Given the description of an element on the screen output the (x, y) to click on. 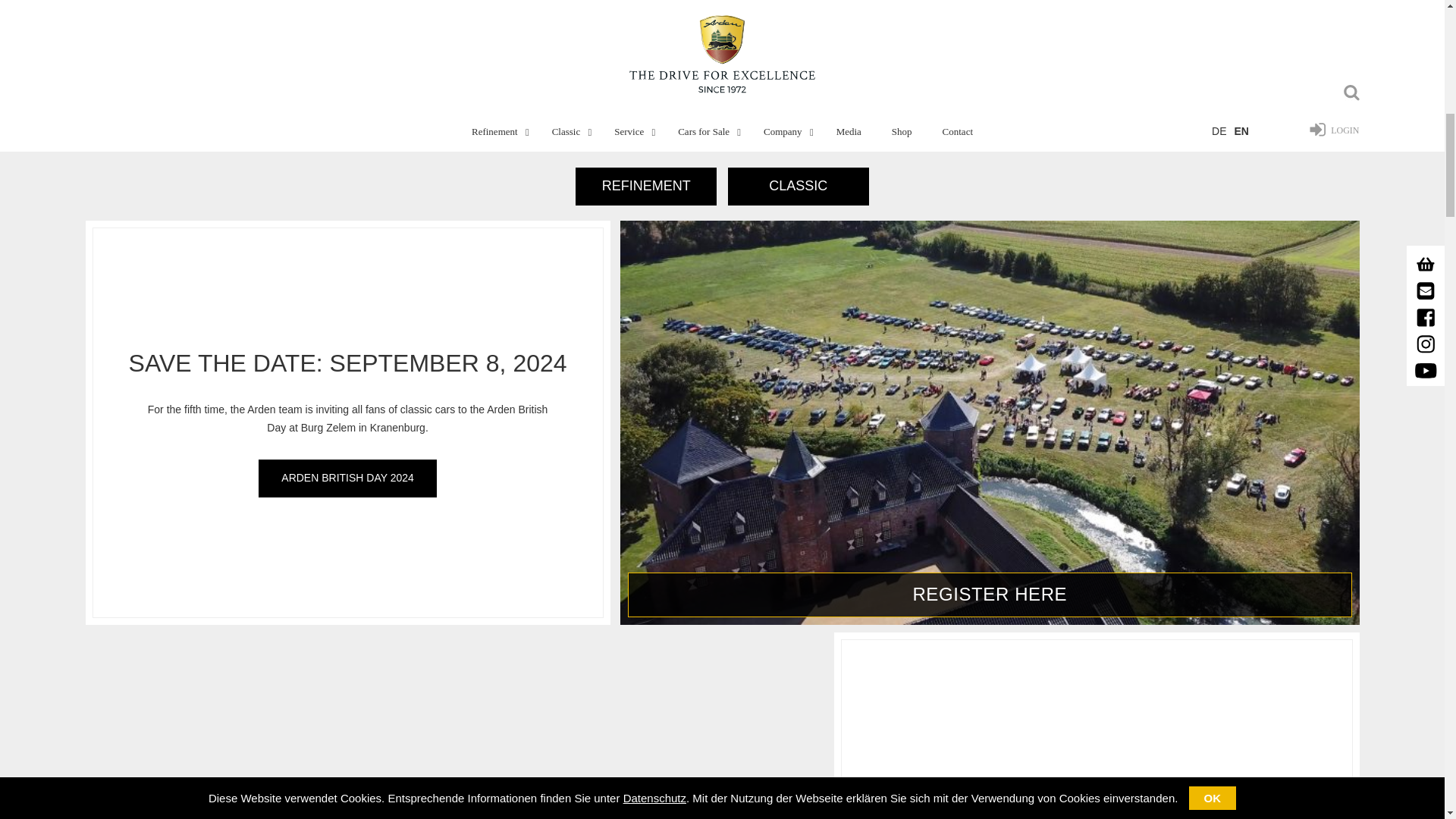
Tuning (645, 186)
Classic (798, 186)
